Given the description of an element on the screen output the (x, y) to click on. 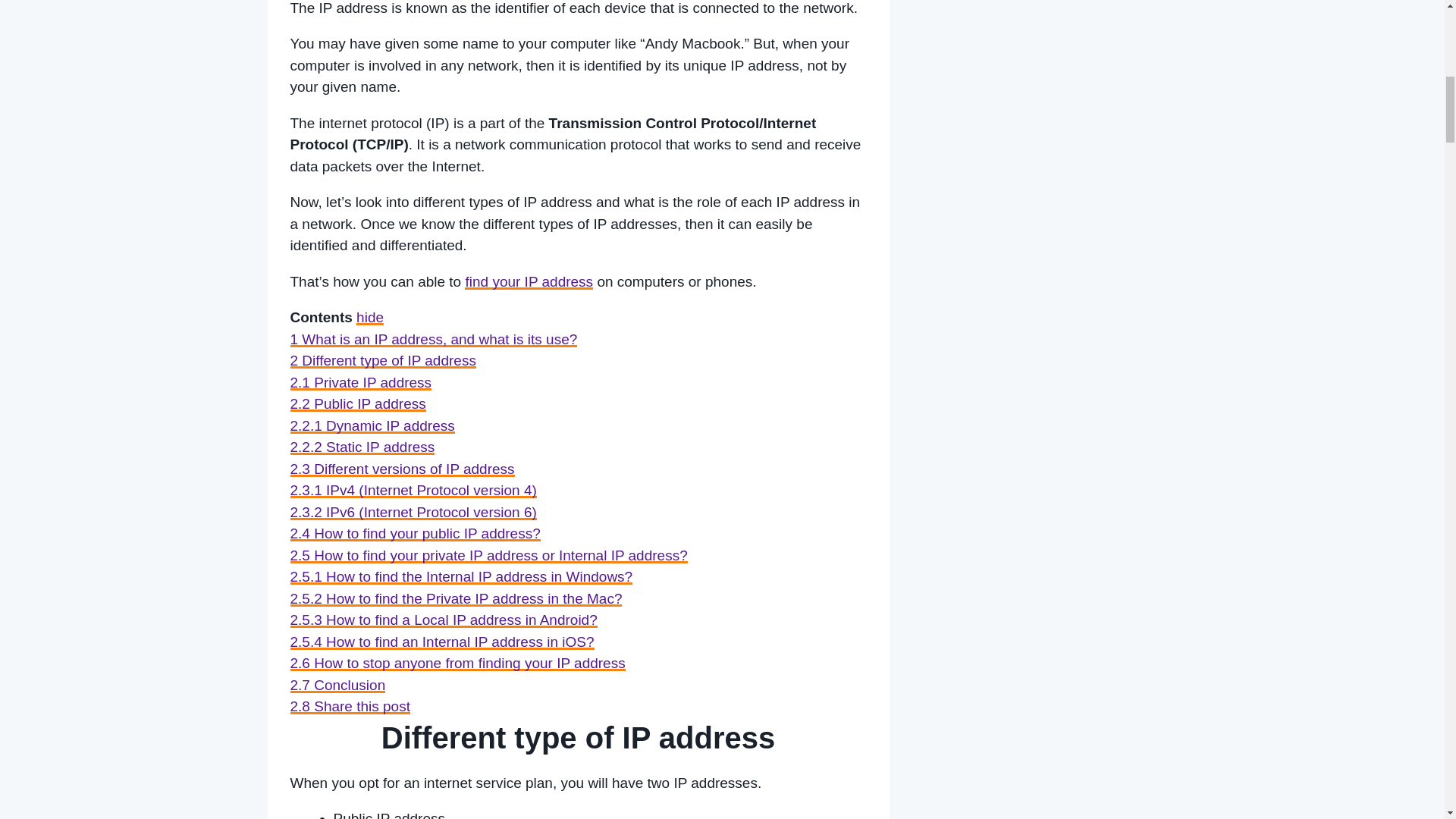
2.2.1 Dynamic IP address (371, 425)
find your IP address (528, 281)
2.8 Share this post (349, 706)
2.5.4 How to find an Internal IP address in iOS? (441, 641)
2.6 How to stop anyone from finding your IP address (456, 662)
1 What is an IP address, and what is its use? (432, 339)
2.7 Conclusion (337, 684)
hide (370, 317)
2.3 Different versions of IP address (401, 468)
2 Different type of IP address (382, 360)
